Given the description of an element on the screen output the (x, y) to click on. 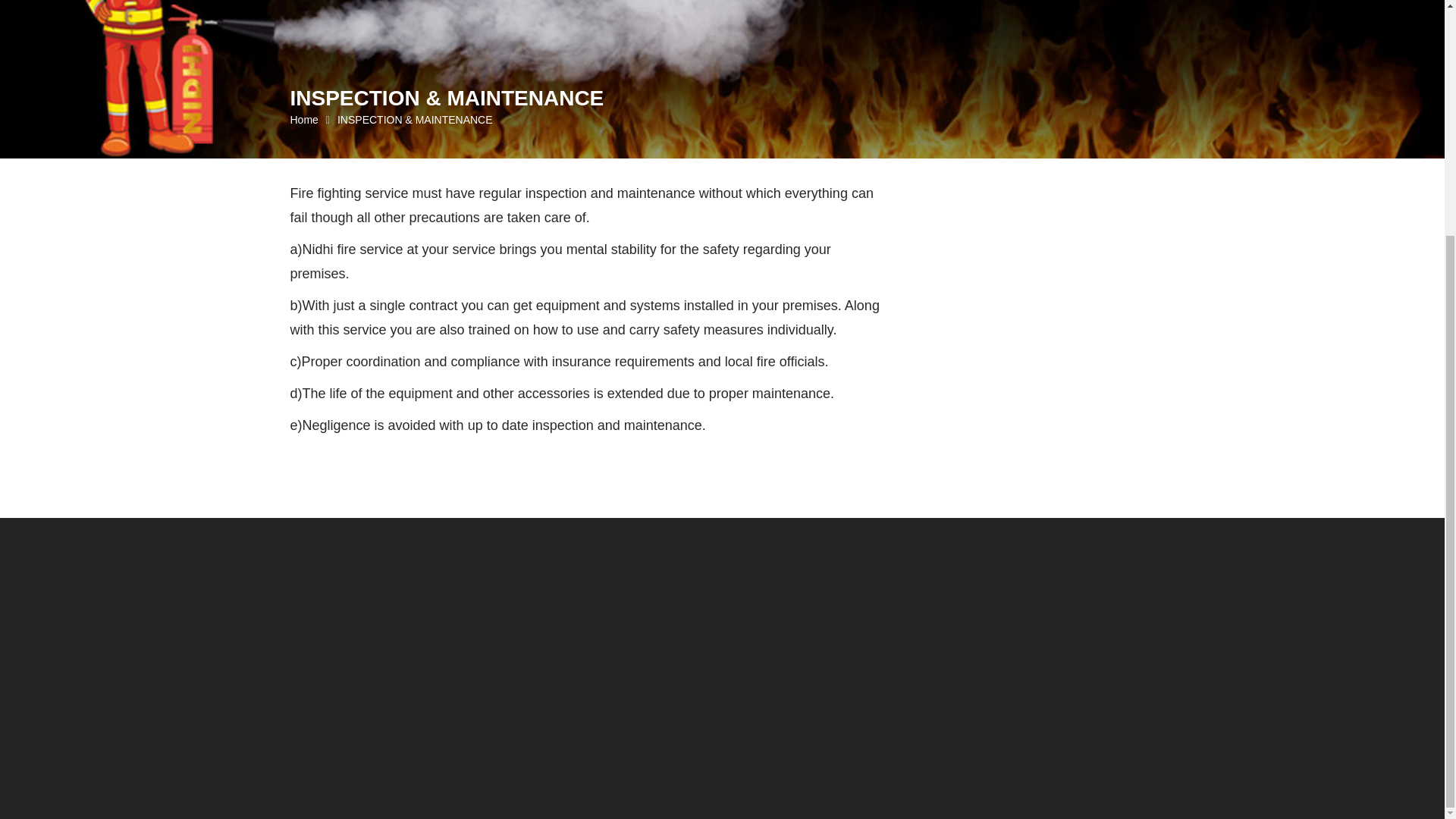
Home (303, 119)
